Given the description of an element on the screen output the (x, y) to click on. 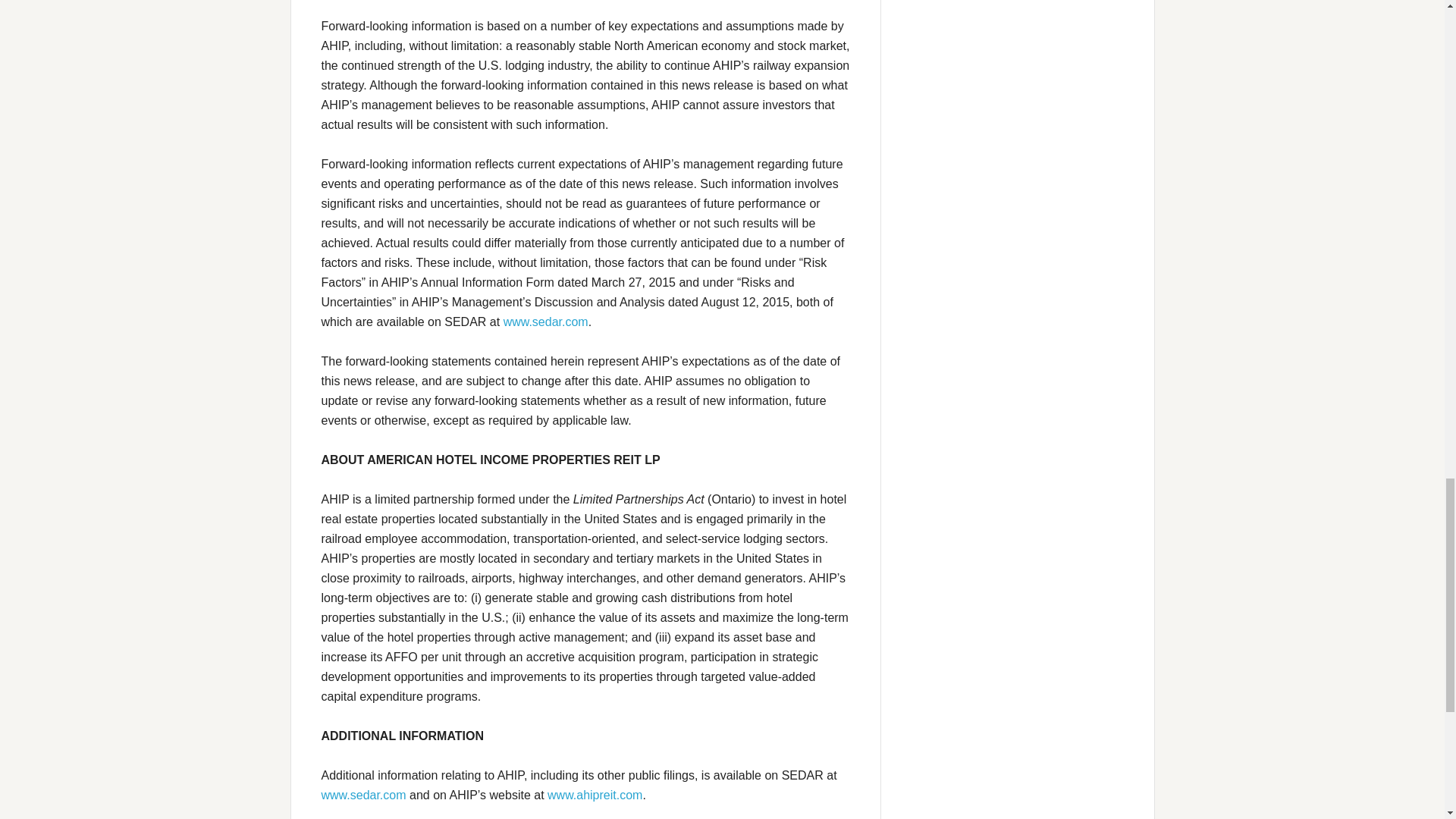
www.ahipreit.com (594, 794)
www.sedar.com (363, 794)
www.sedar.com (545, 321)
